Given the description of an element on the screen output the (x, y) to click on. 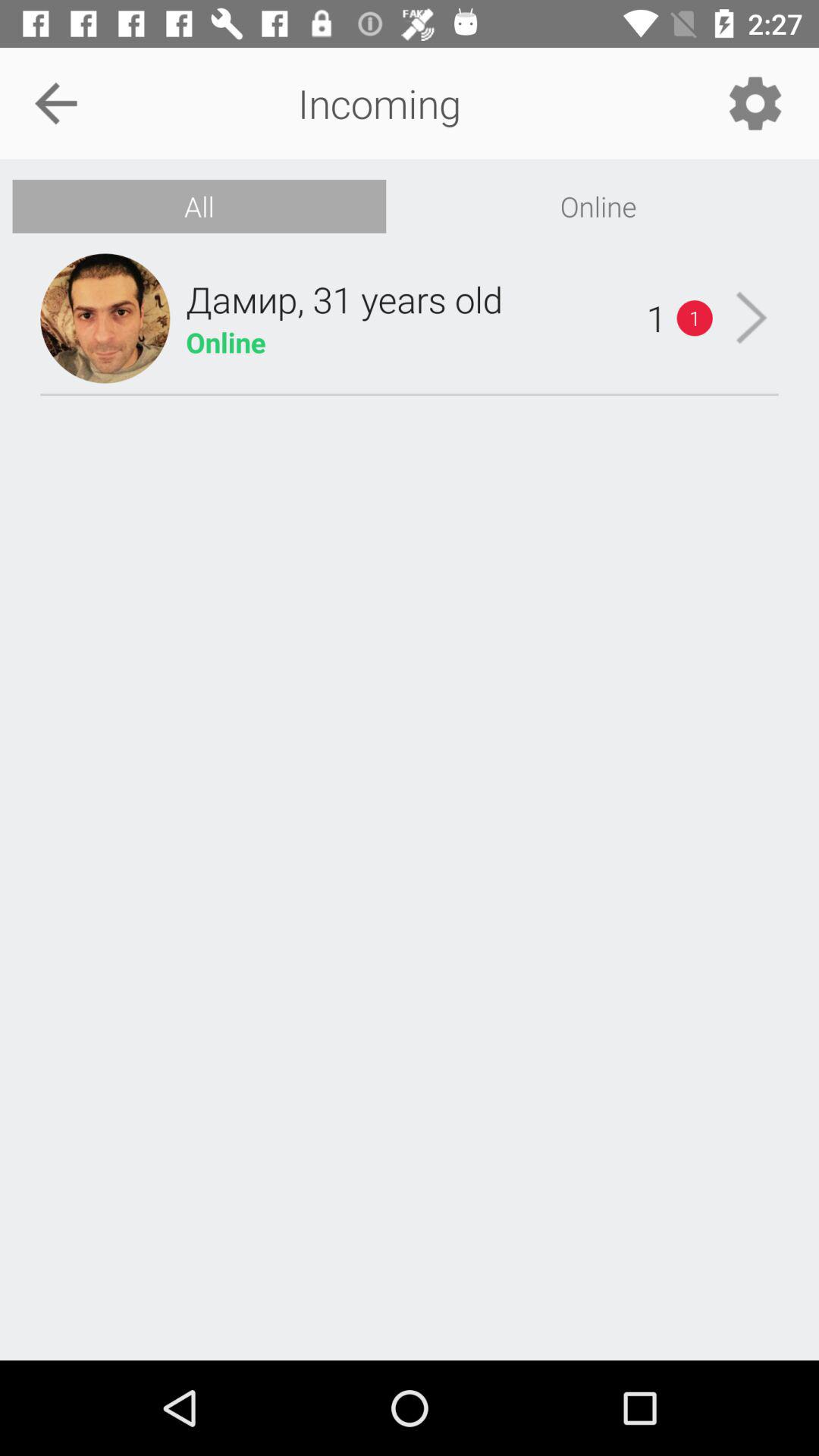
jump to all item (199, 206)
